Given the description of an element on the screen output the (x, y) to click on. 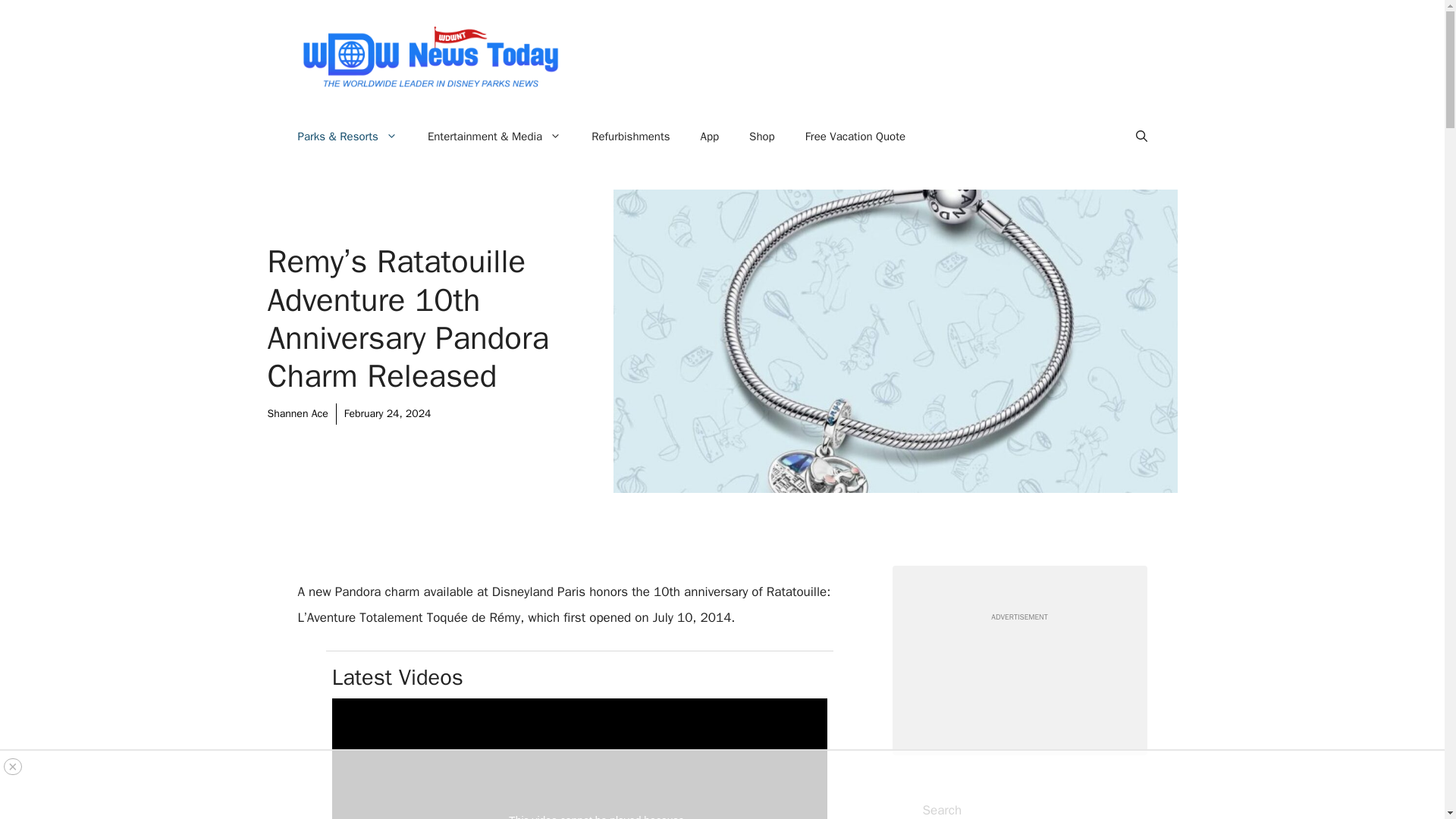
Refurbishments (630, 135)
Free Vacation Quote (855, 135)
Shop (761, 135)
App (710, 135)
